Given the description of an element on the screen output the (x, y) to click on. 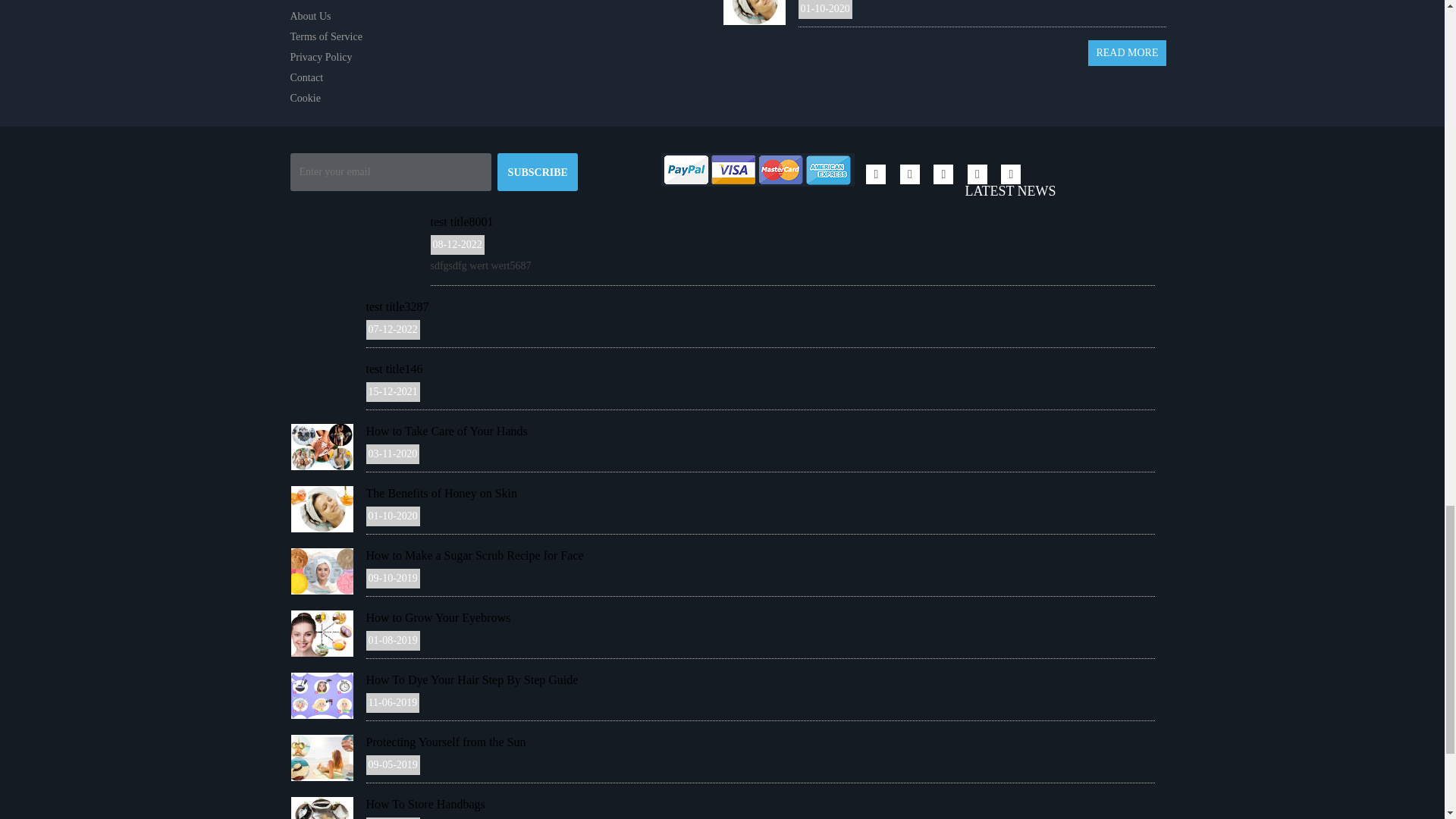
Subscribe (537, 171)
